Given the description of an element on the screen output the (x, y) to click on. 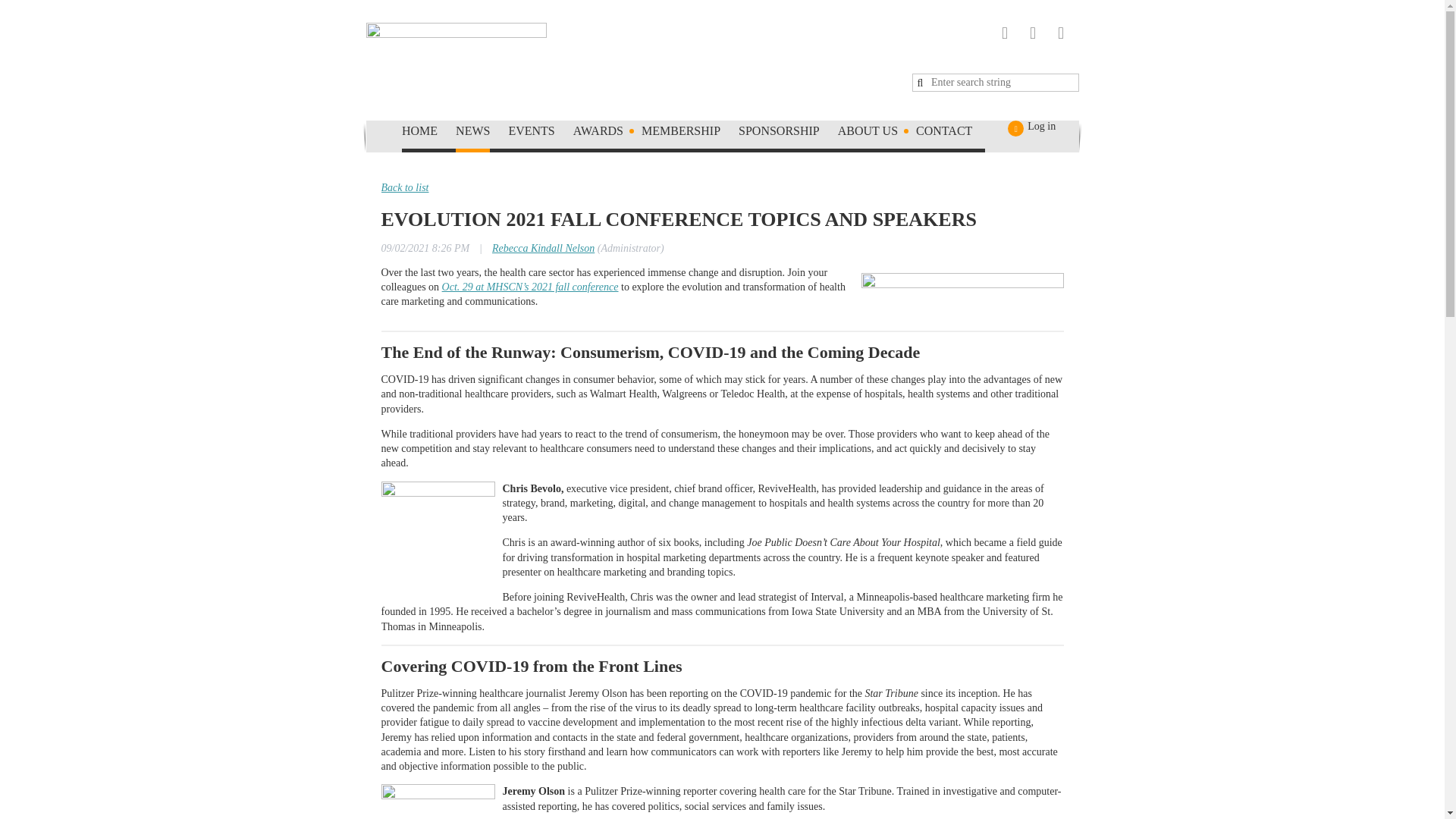
SPONSORSHIP (788, 134)
HOME (428, 134)
Facebook (1004, 32)
News (481, 134)
NEWS (481, 134)
ABOUT US (876, 134)
Back to list (404, 187)
AWARDS (607, 134)
Home (428, 134)
Membership (690, 134)
